Given the description of an element on the screen output the (x, y) to click on. 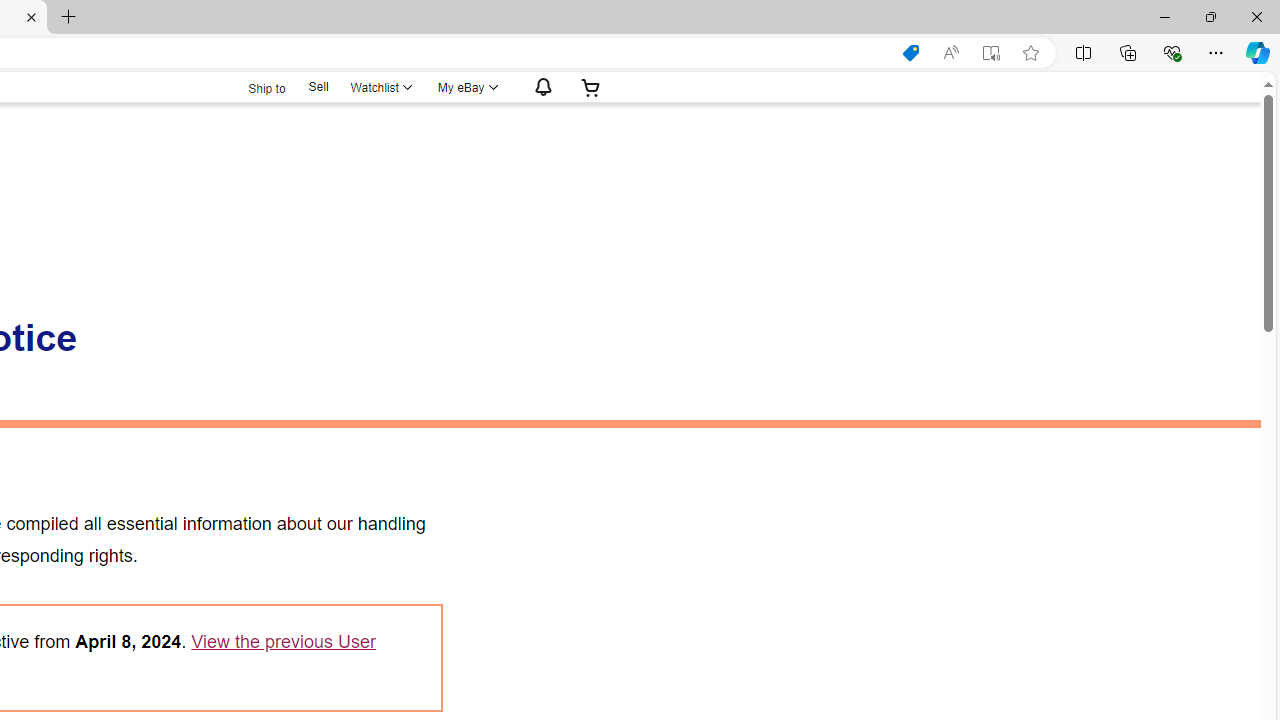
Your shopping cart (591, 87)
Enter Immersive Reader (F9) (991, 53)
Ship to (253, 88)
Watchlist (380, 87)
This site has coupons! Shopping in Microsoft Edge (910, 53)
AutomationID: gh-eb-Alerts (540, 87)
WatchlistExpand Watch List (380, 87)
My eBay (466, 87)
Ship to (253, 85)
